Given the description of an element on the screen output the (x, y) to click on. 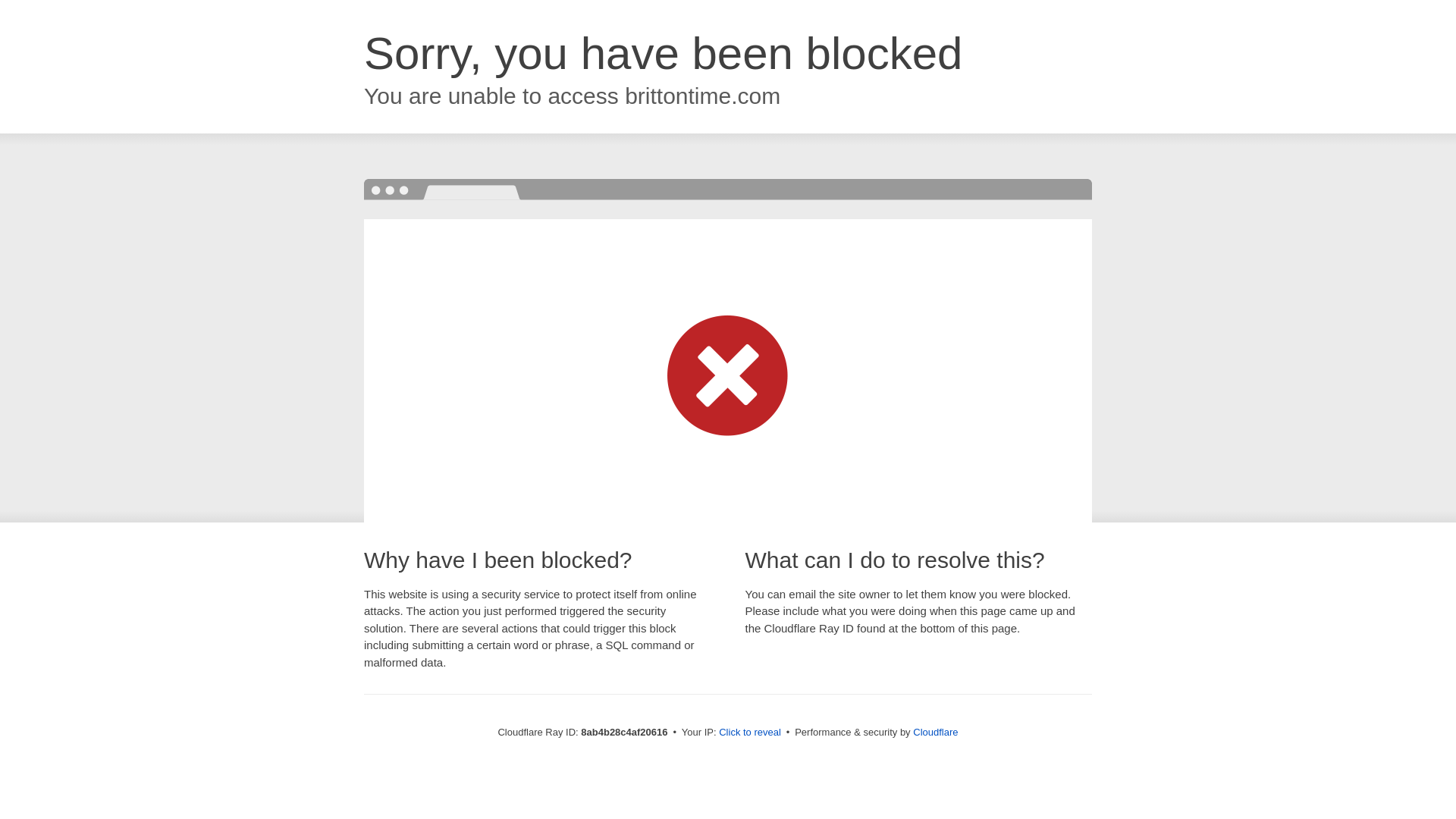
Cloudflare (935, 731)
Click to reveal (749, 732)
